Given the description of an element on the screen output the (x, y) to click on. 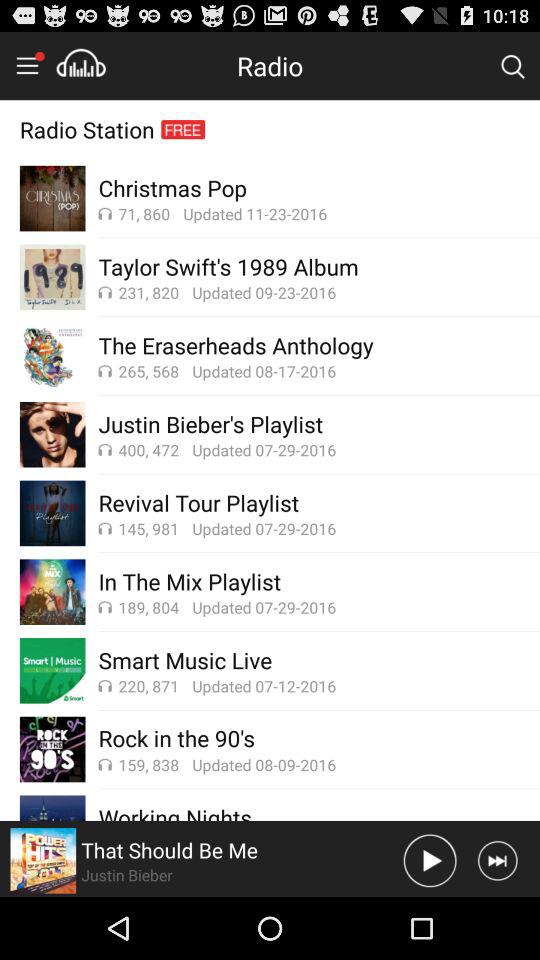
play this song (429, 860)
